Given the description of an element on the screen output the (x, y) to click on. 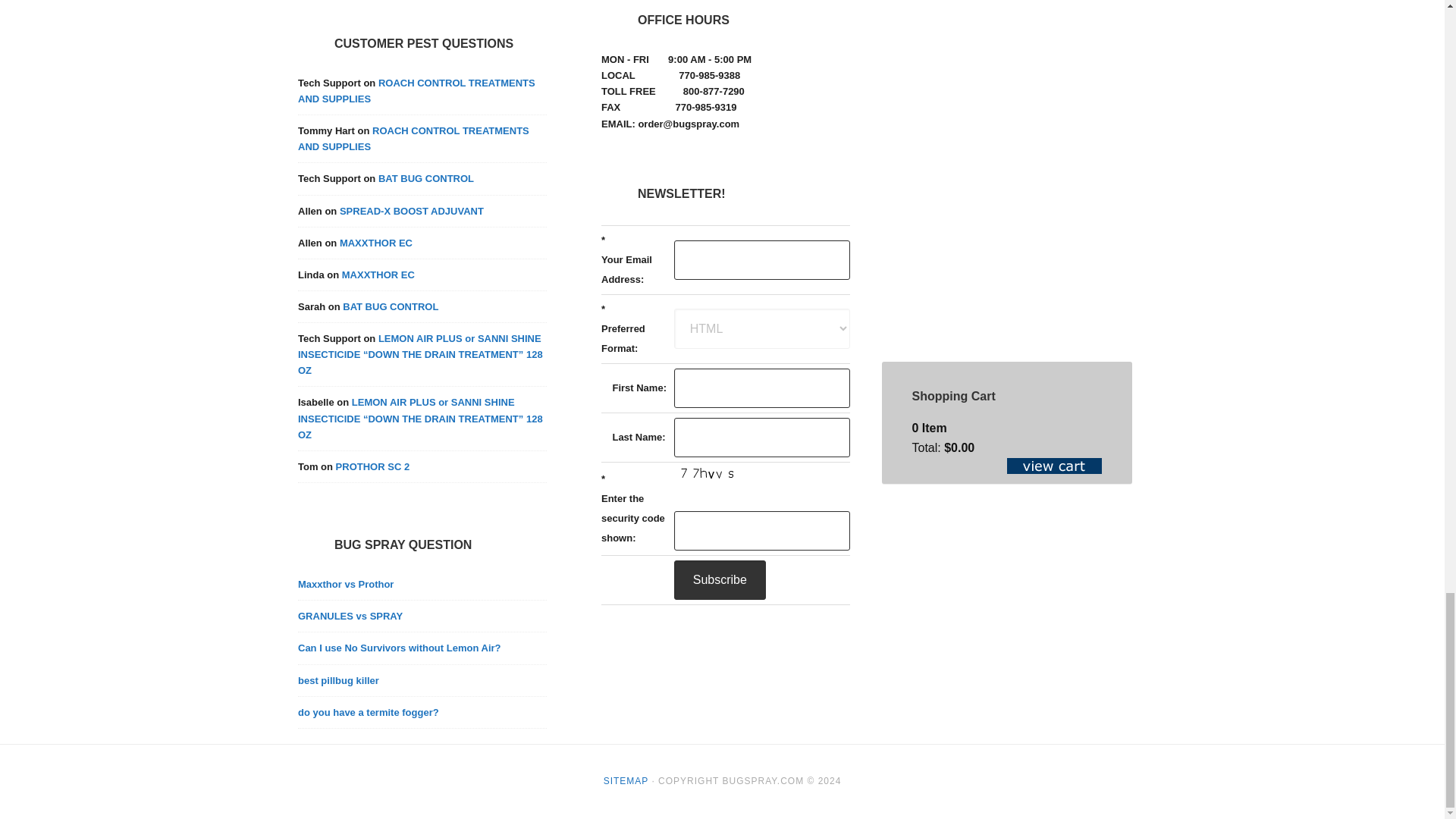
Subscribe (719, 579)
